Given the description of an element on the screen output the (x, y) to click on. 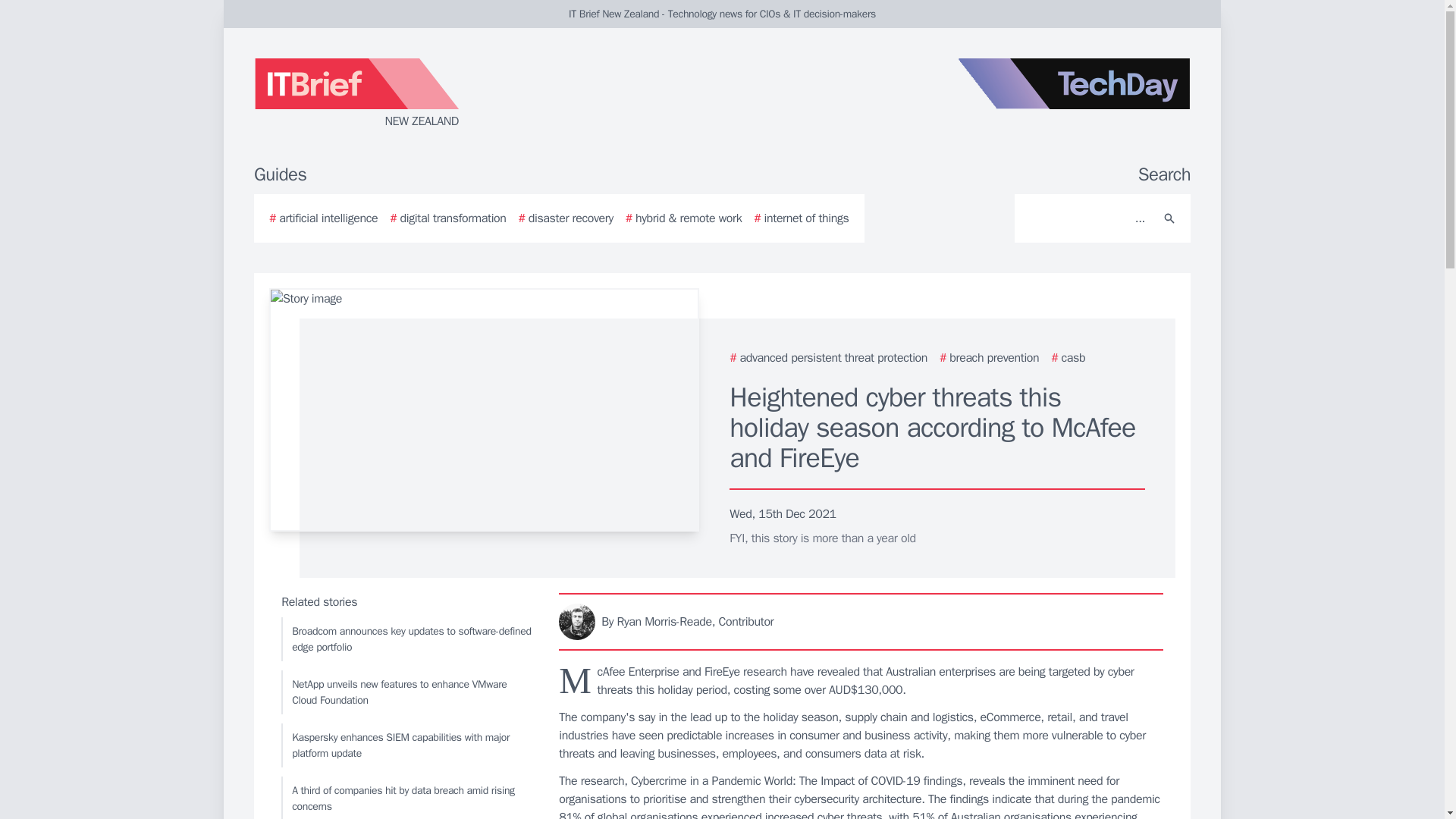
By Ryan Morris-Reade, Contributor (861, 621)
A third of companies hit by data breach amid rising concerns (406, 797)
NEW ZEALAND (435, 94)
